Given the description of an element on the screen output the (x, y) to click on. 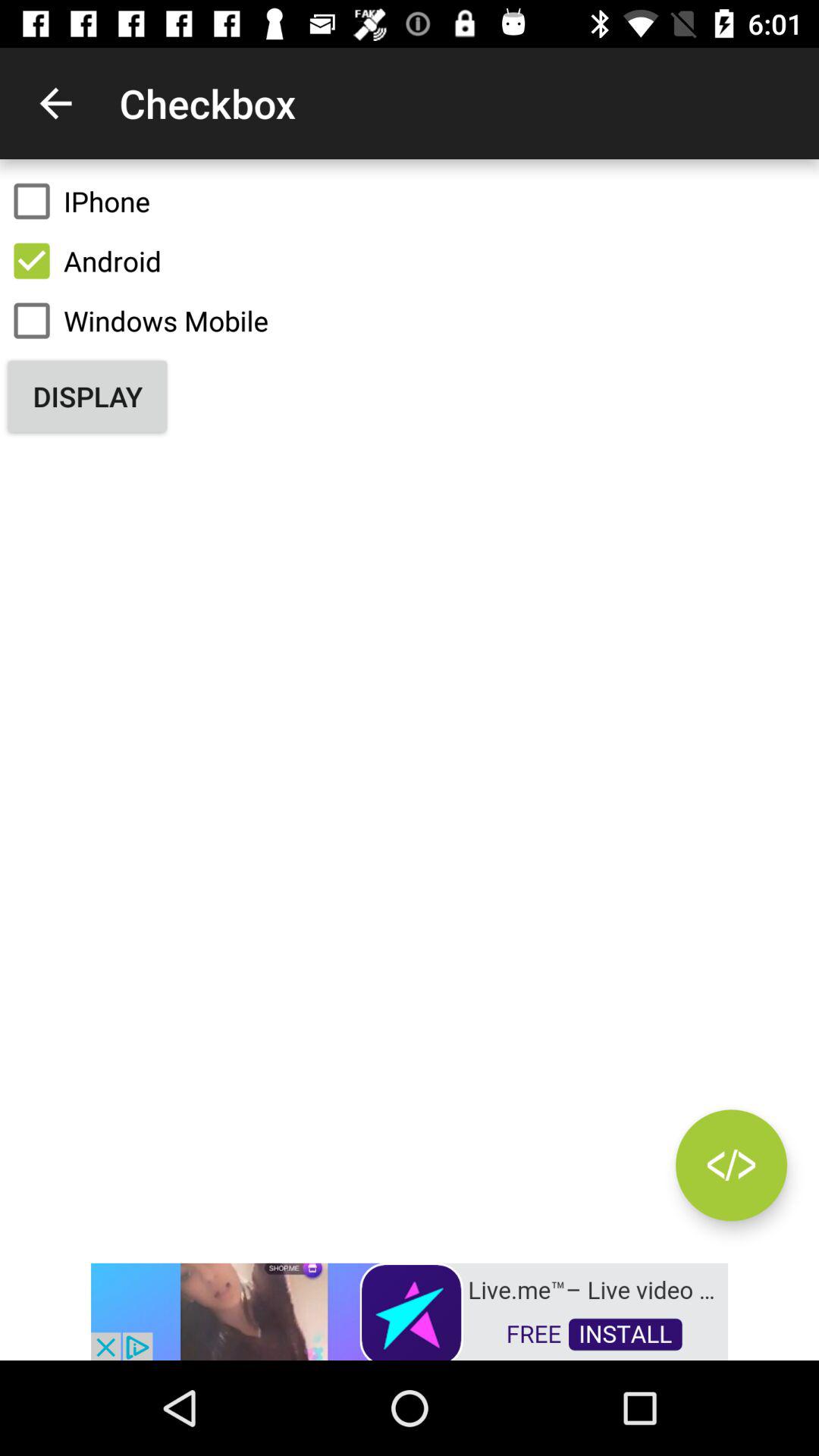
advertisement bar (409, 1310)
